Given the description of an element on the screen output the (x, y) to click on. 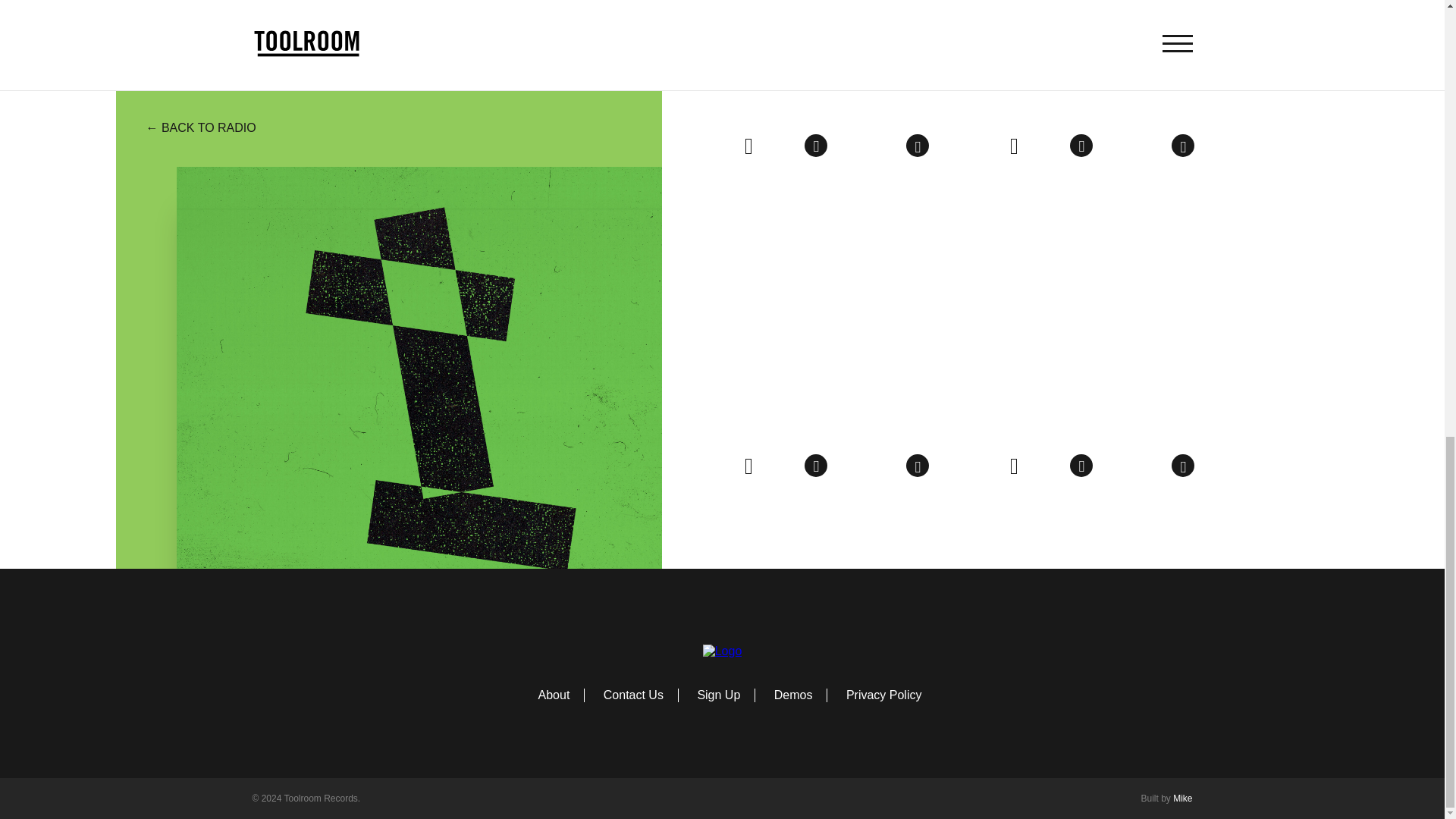
spotify (1014, 144)
Listen on spotify (748, 144)
Listen on soundcloud (849, 147)
Listen on amazonMusic (916, 145)
deezer (782, 147)
amazonMusic (916, 145)
Listen on deezer (782, 147)
appleMusic (816, 145)
mixcloud (883, 147)
Listen on spotify (1014, 144)
